Given the description of an element on the screen output the (x, y) to click on. 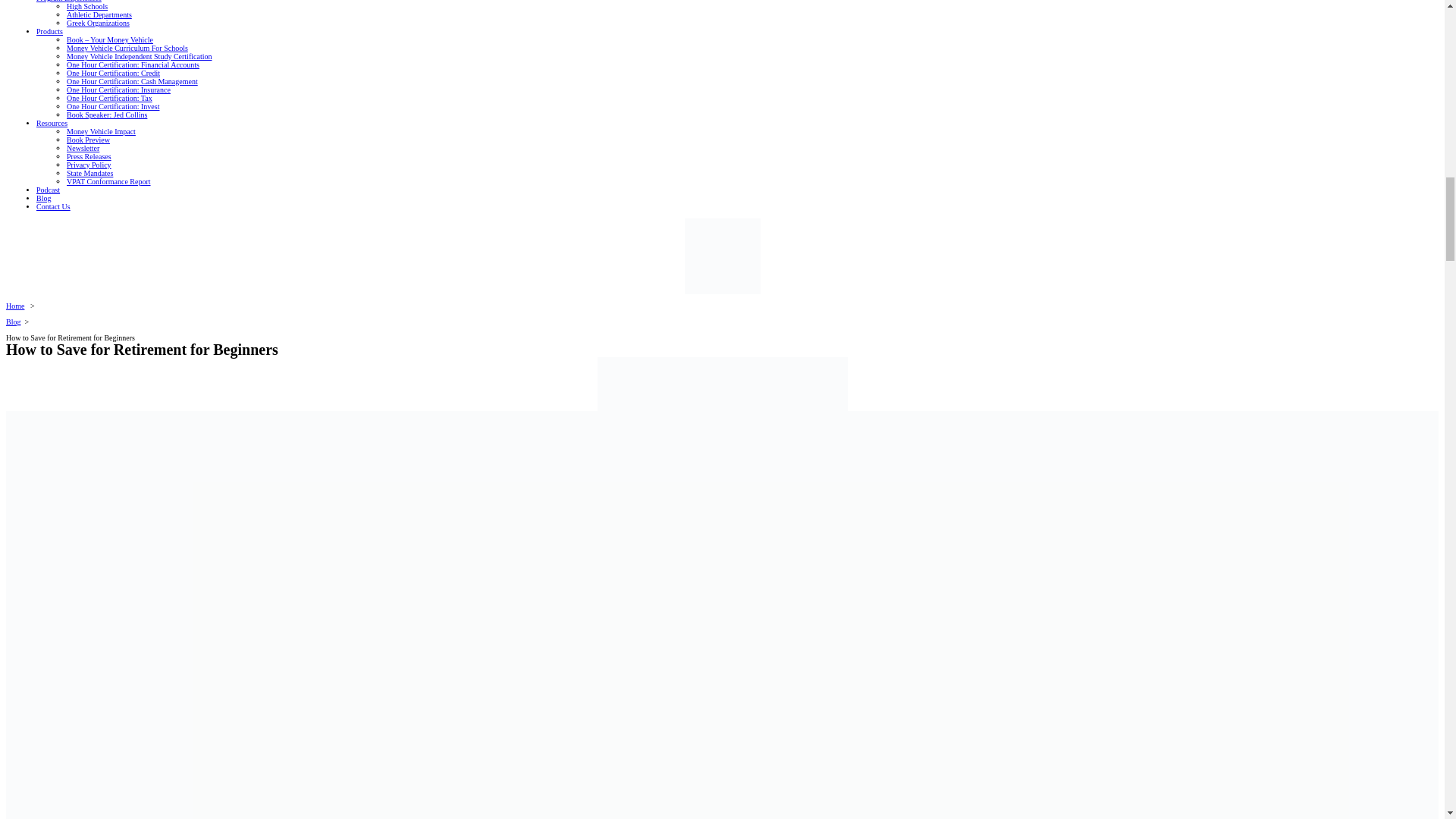
Dots Array (722, 256)
